Given the description of an element on the screen output the (x, y) to click on. 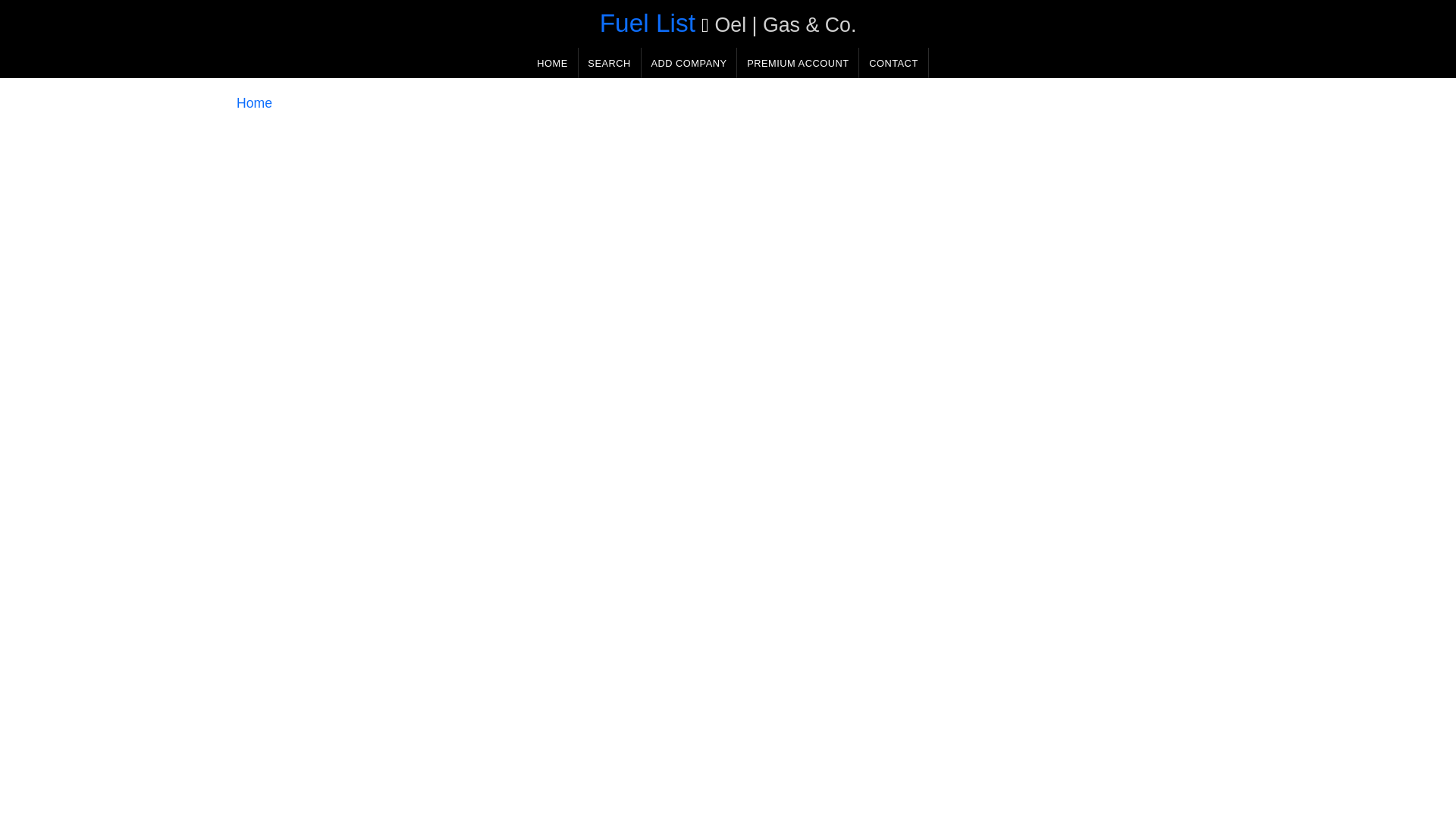
Search in this webseite. (609, 62)
Premium account (797, 62)
Fuel List (647, 22)
Add a new company (689, 62)
Home (253, 102)
CONTACT (893, 62)
PREMIUM ACCOUNT (797, 62)
HOME (551, 62)
SEARCH (609, 62)
ADD COMPANY (689, 62)
